Given the description of an element on the screen output the (x, y) to click on. 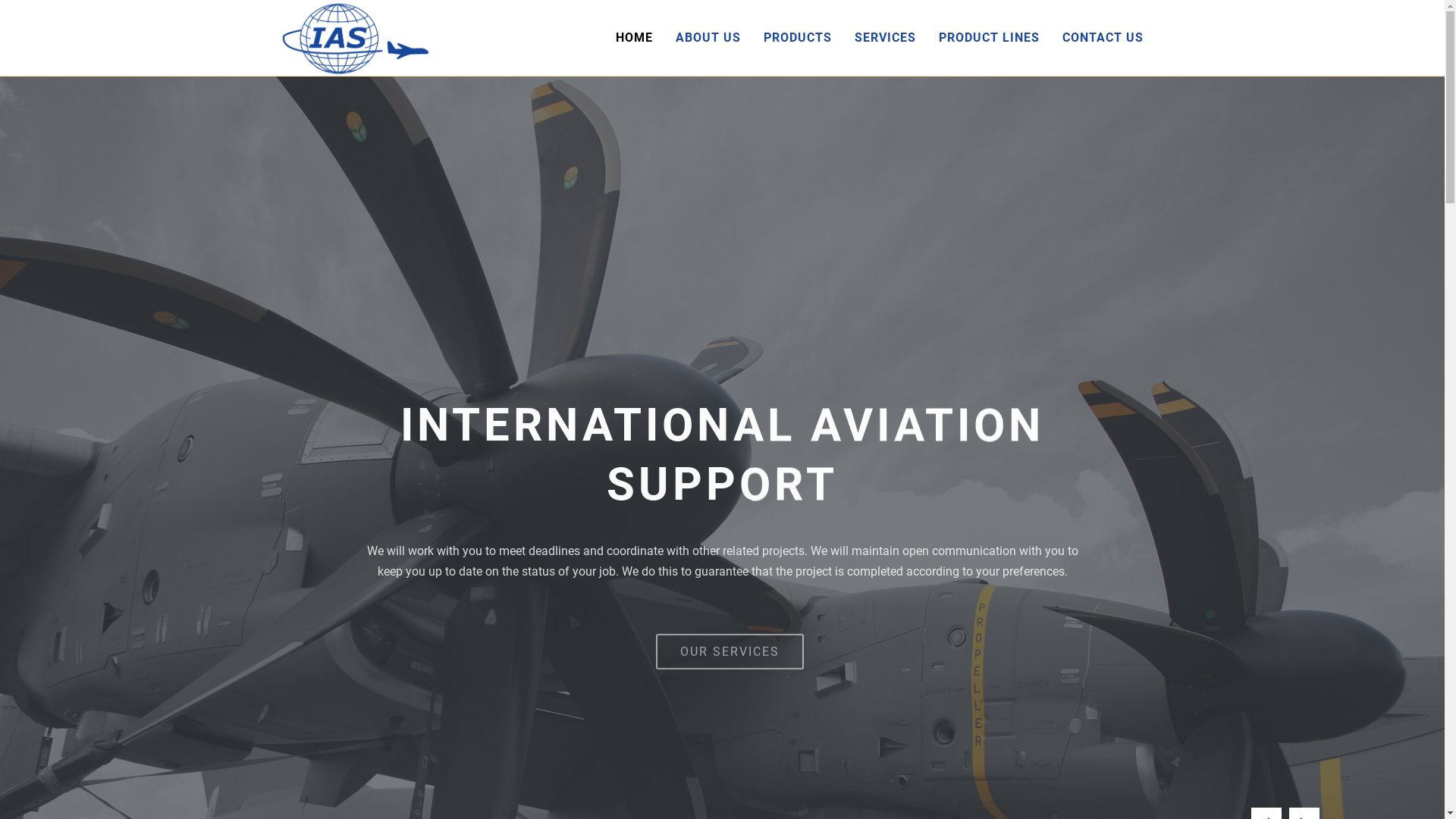
SERVICES Element type: text (885, 37)
OUR SERVICES Element type: text (729, 641)
CONTACT US Element type: text (1102, 37)
PRODUCT LINES Element type: text (988, 37)
PRODUCTS Element type: text (797, 37)
ABOUT US Element type: text (708, 37)
HOME Element type: text (633, 37)
